Given the description of an element on the screen output the (x, y) to click on. 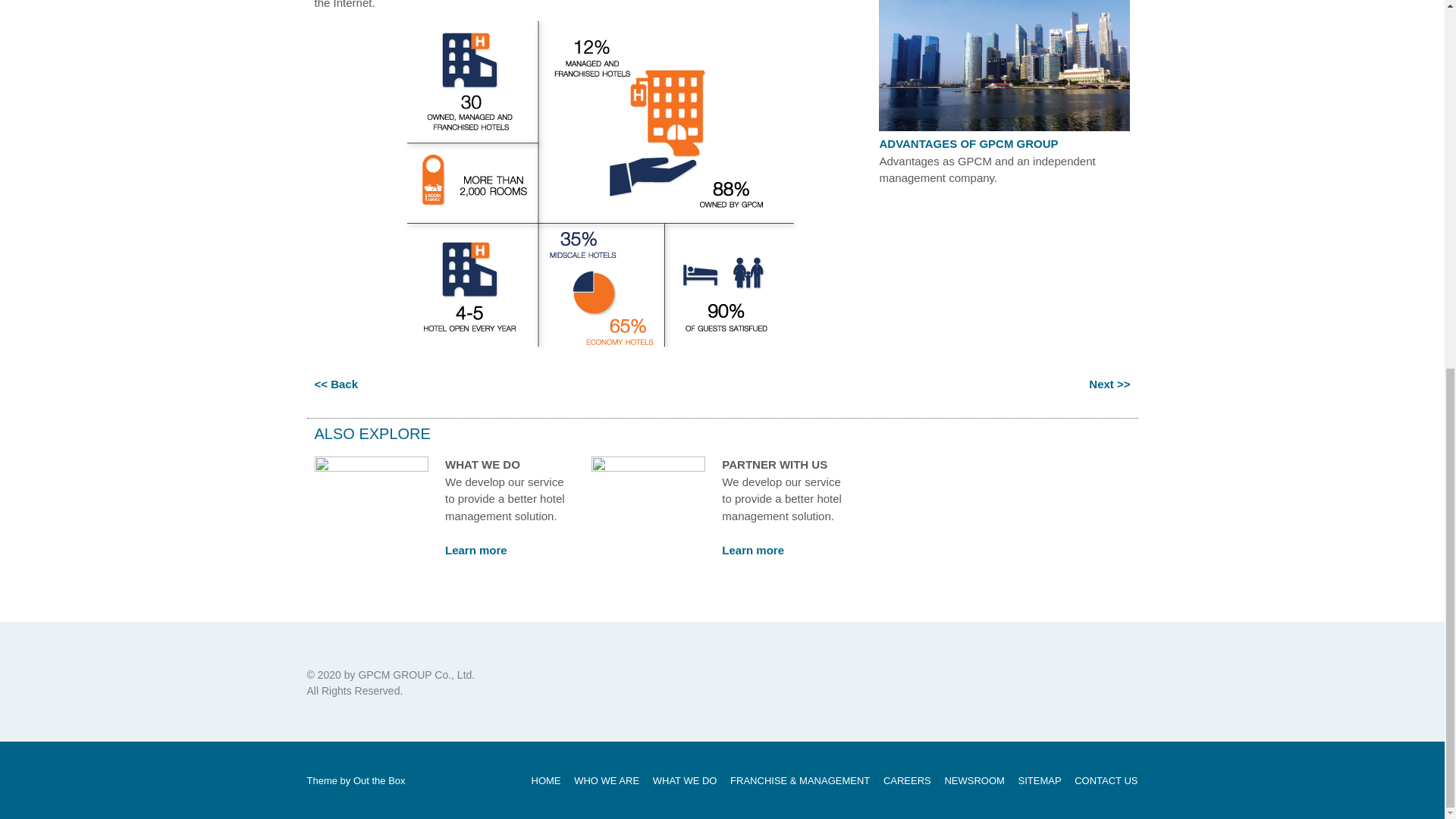
HOME (545, 780)
ADVANTAGES OF GPCM GROUP (968, 143)
Learn more (475, 549)
Learn more (753, 549)
Out the Box (379, 780)
